Given the description of an element on the screen output the (x, y) to click on. 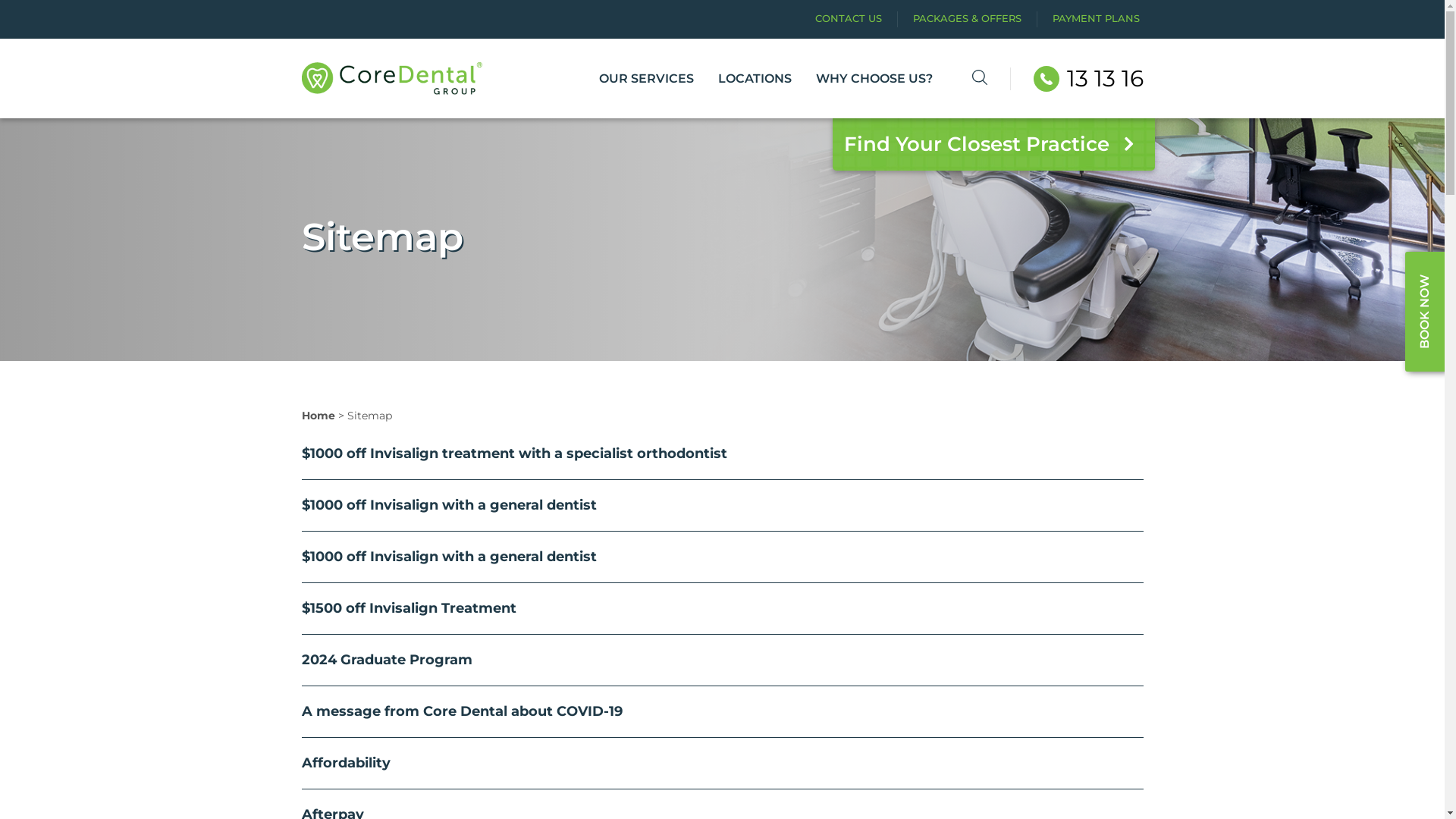
PACKAGES & OFFERS Element type: text (967, 18)
PAYMENT PLANS Element type: text (1095, 18)
OUR SERVICES Element type: text (646, 78)
$1000 off Invisalign with a general dentist Element type: text (448, 556)
$1000 off Invisalign with a general dentist Element type: text (448, 505)
$1500 off Invisalign Treatment Element type: text (408, 608)
2024 Graduate Program Element type: text (386, 659)
LOCATIONS Element type: text (754, 78)
WHY CHOOSE US? Element type: text (873, 78)
CONTACT US Element type: text (847, 18)
A message from Core Dental about COVID-19 Element type: text (461, 711)
13 13 16 Element type: text (1087, 78)
Affordability Element type: text (345, 763)
Home Element type: text (318, 415)
